Given the description of an element on the screen output the (x, y) to click on. 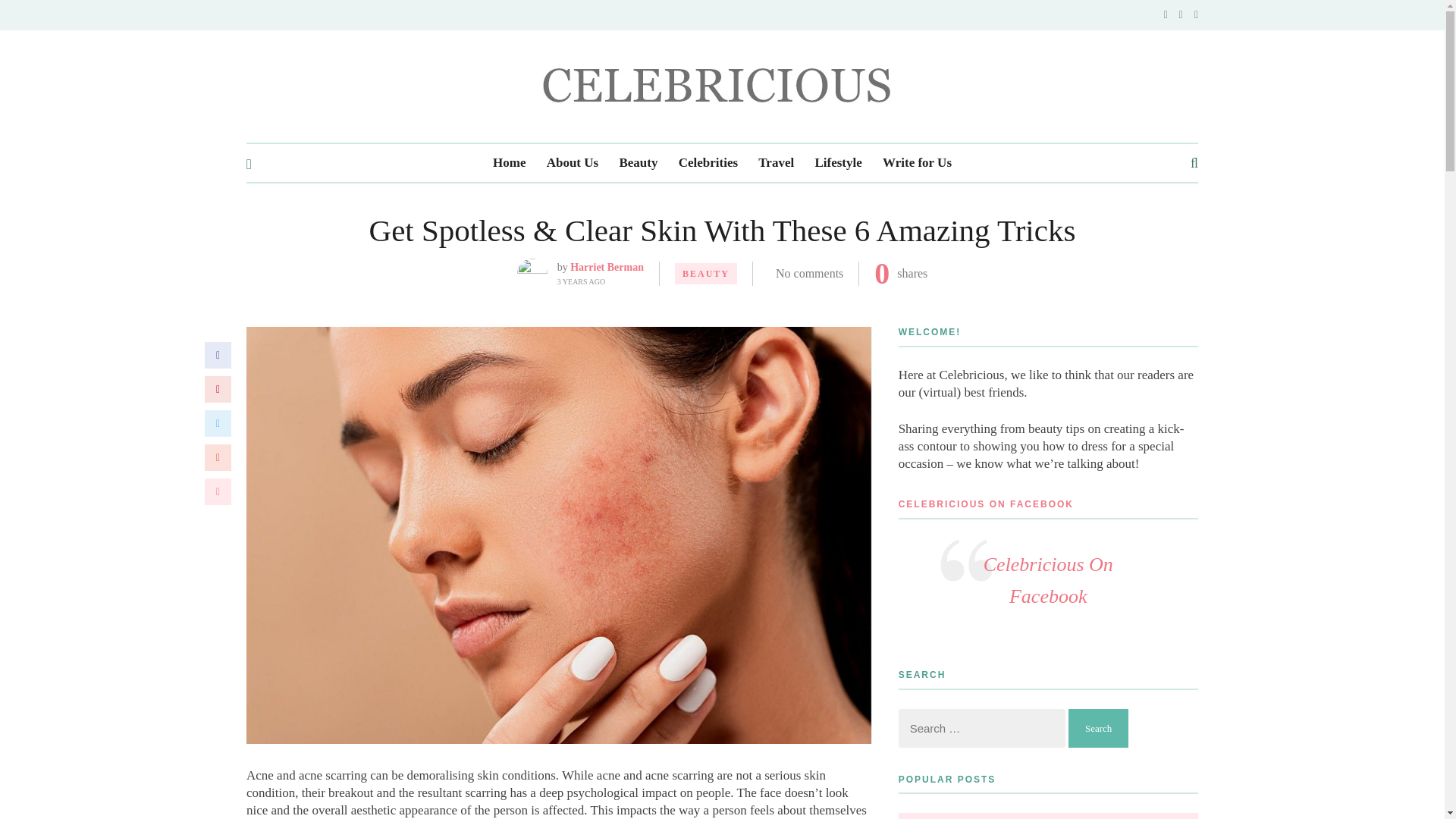
About Us (572, 162)
Celebrities (708, 162)
BEAUTY (705, 273)
Lifestyle (837, 162)
Search (1098, 728)
Search (1098, 728)
No comments (809, 273)
Travel (775, 162)
Write for Us (917, 162)
Beauty (638, 162)
